Given the description of an element on the screen output the (x, y) to click on. 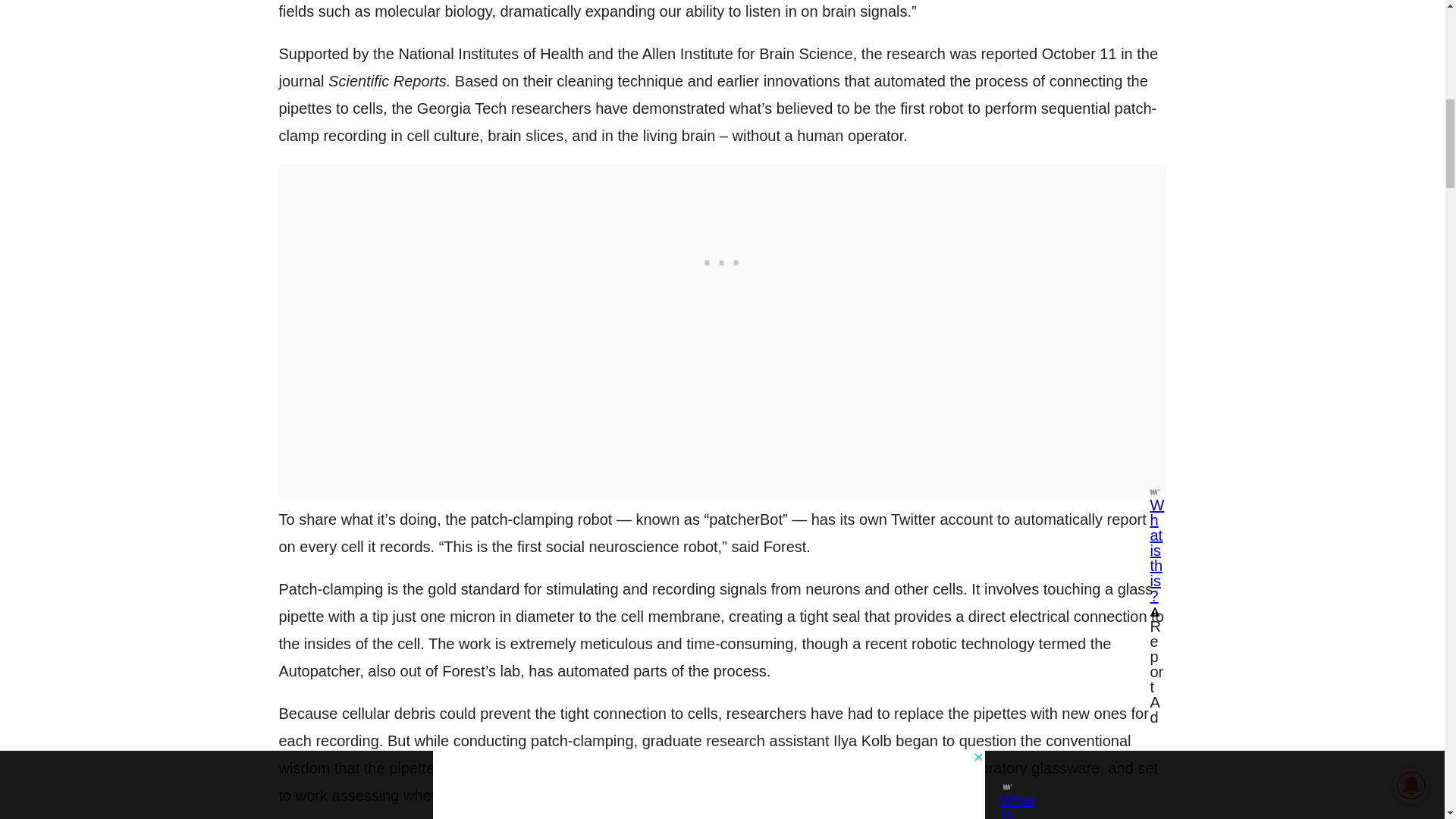
3rd party ad content (721, 258)
